Given the description of an element on the screen output the (x, y) to click on. 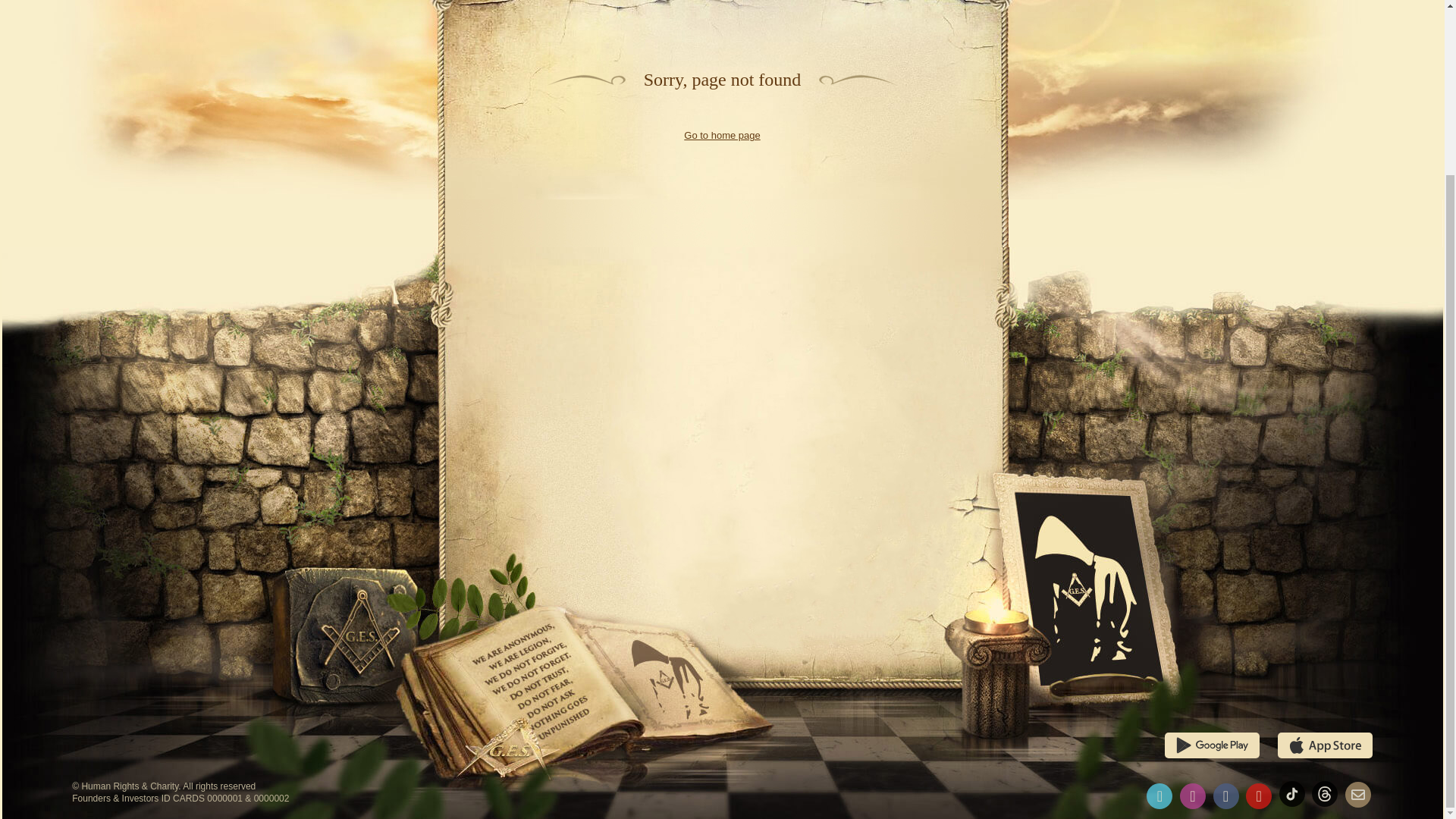
Go to home page (722, 134)
